Given the description of an element on the screen output the (x, y) to click on. 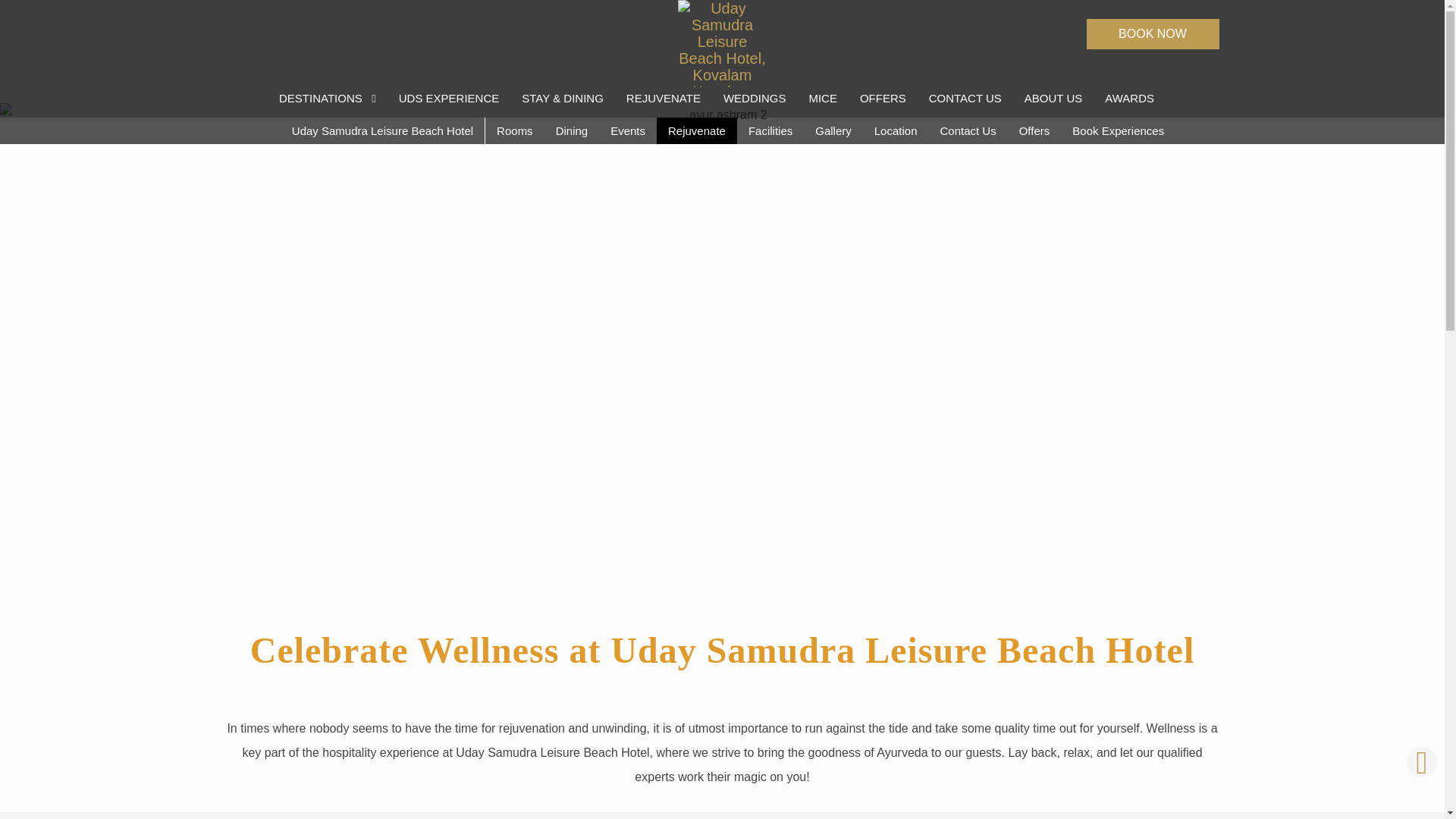
DESTINATIONS (333, 97)
OFFERS (882, 97)
Facilities (769, 130)
BOOK NOW (1152, 33)
Contact Us (967, 130)
MICE (822, 97)
Gallery (833, 130)
REJUVENATE (662, 97)
Location (895, 130)
AWARDS (1129, 97)
